Given the description of an element on the screen output the (x, y) to click on. 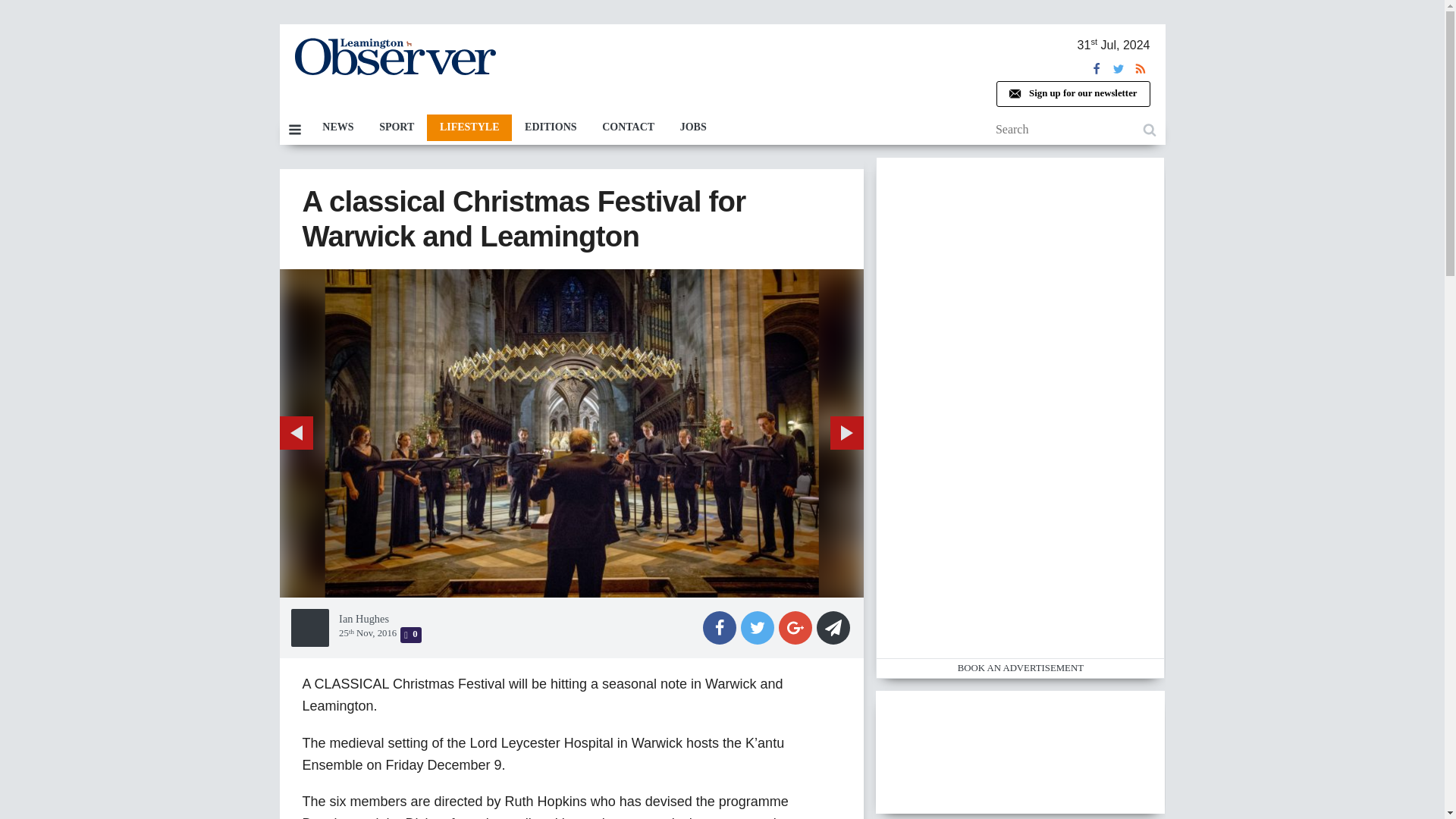
SPORT (396, 127)
  Sign up for our newsletter (1072, 94)
LIFESTYLE (469, 127)
Ian Hughes (363, 618)
JOBS (692, 127)
CONTACT (627, 127)
EDITIONS (550, 127)
The Leamington Observer (394, 55)
NEWS (337, 127)
